Given the description of an element on the screen output the (x, y) to click on. 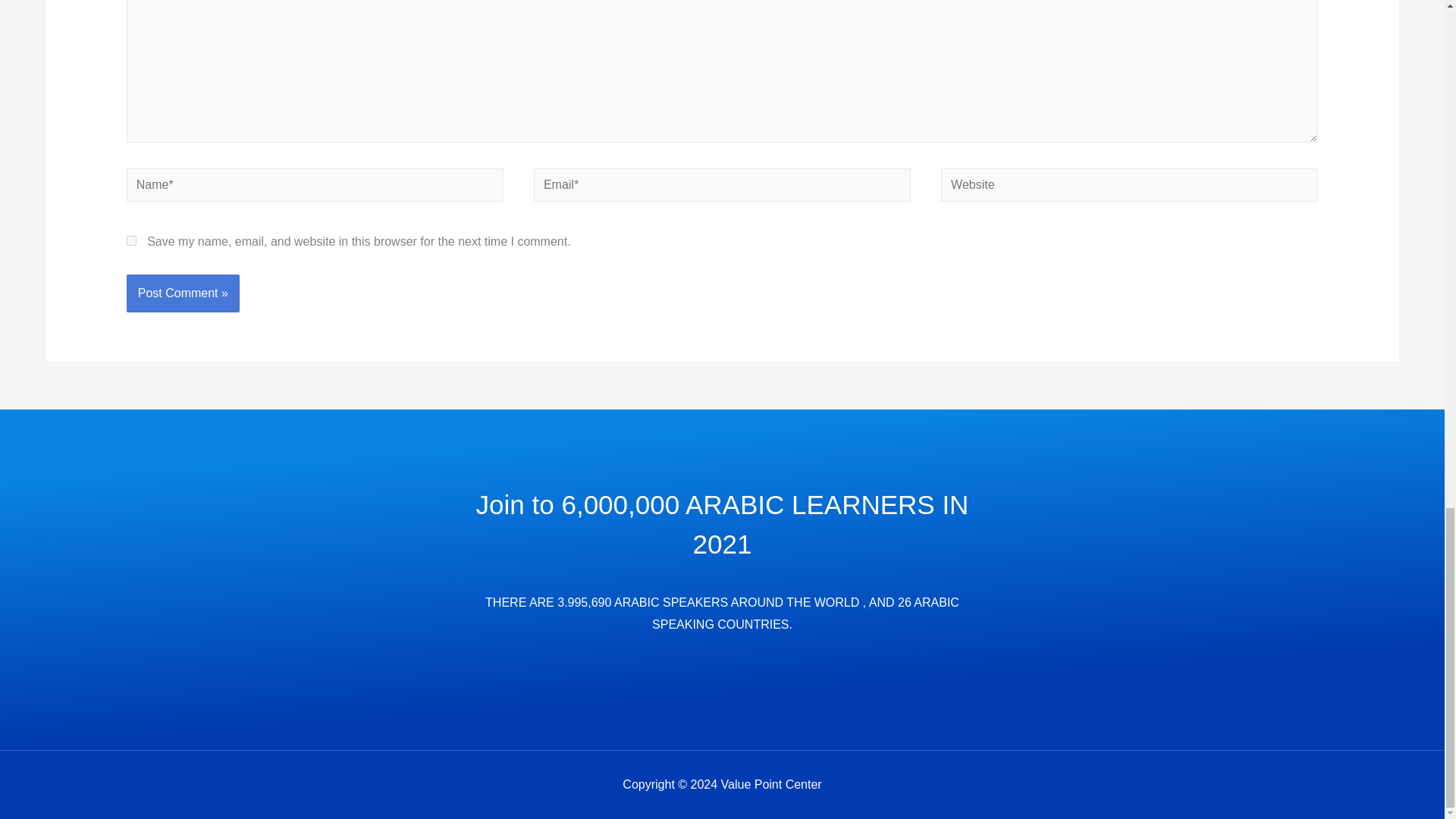
yes (131, 240)
